Given the description of an element on the screen output the (x, y) to click on. 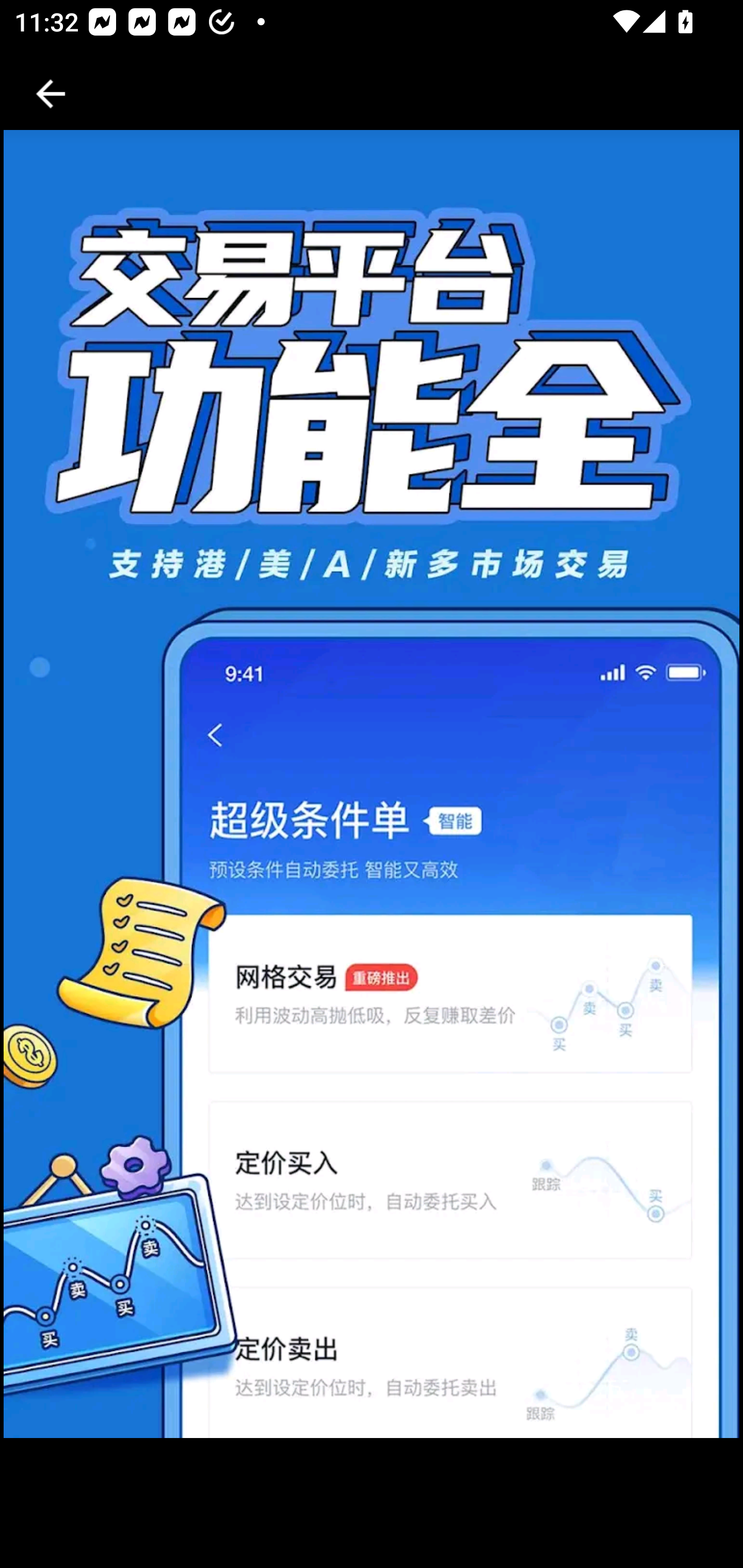
Back (50, 93)
